Given the description of an element on the screen output the (x, y) to click on. 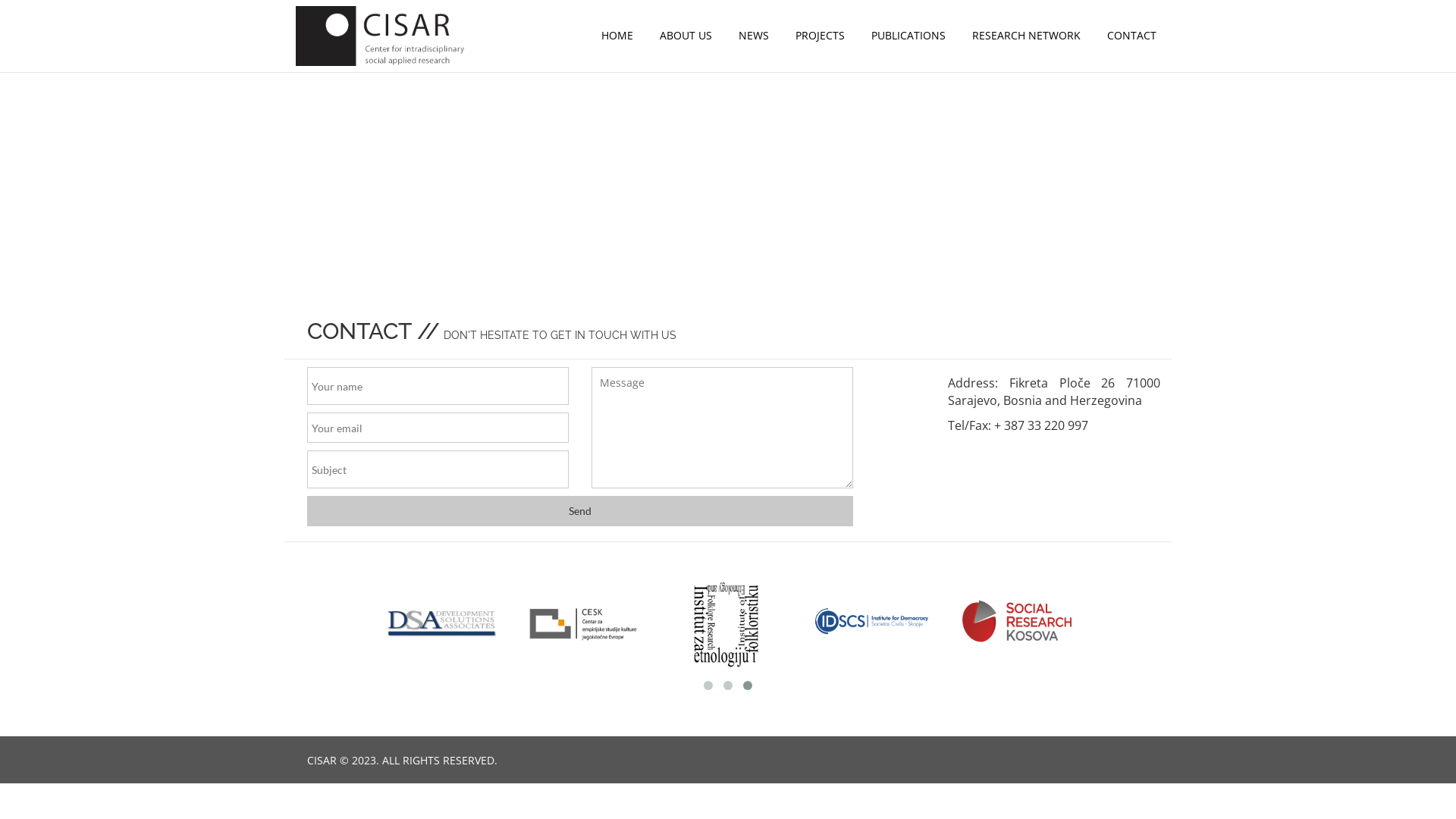
PROJECTS Element type: text (820, 35)
ABOUT US Element type: text (685, 35)
NEWS Element type: text (753, 35)
CONTACT Element type: text (1131, 35)
Send Element type: text (580, 510)
RESEARCH NETWORK Element type: text (1026, 35)
HOME Element type: text (616, 35)
PUBLICATIONS Element type: text (908, 35)
